Given the description of an element on the screen output the (x, y) to click on. 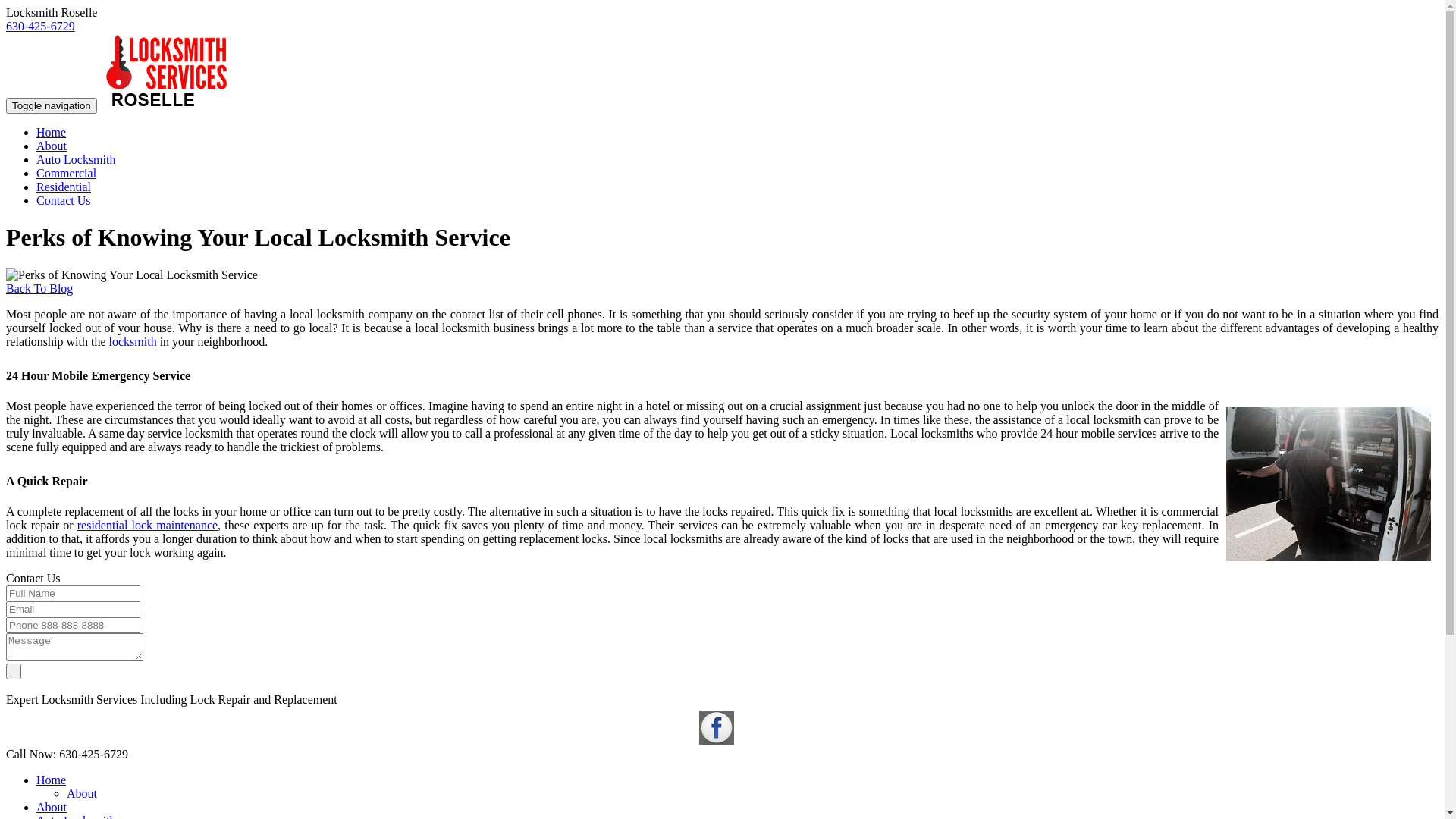
About Element type: text (81, 793)
About Element type: text (51, 806)
Residential Element type: text (63, 186)
Perks of Knowing Your Local Locksmith Service Element type: hover (1328, 484)
Auto Locksmith Element type: text (75, 159)
630-425-6729 Element type: text (40, 25)
Contact Us Element type: text (63, 200)
  Element type: text (13, 670)
Back To Blog Element type: text (39, 288)
locksmith Element type: text (132, 341)
Toggle navigation Element type: text (51, 105)
Home Element type: text (50, 131)
Commercial Element type: text (66, 172)
residential lock maintenance Element type: text (147, 524)
About Element type: text (51, 145)
Home Element type: text (50, 779)
